Given the description of an element on the screen output the (x, y) to click on. 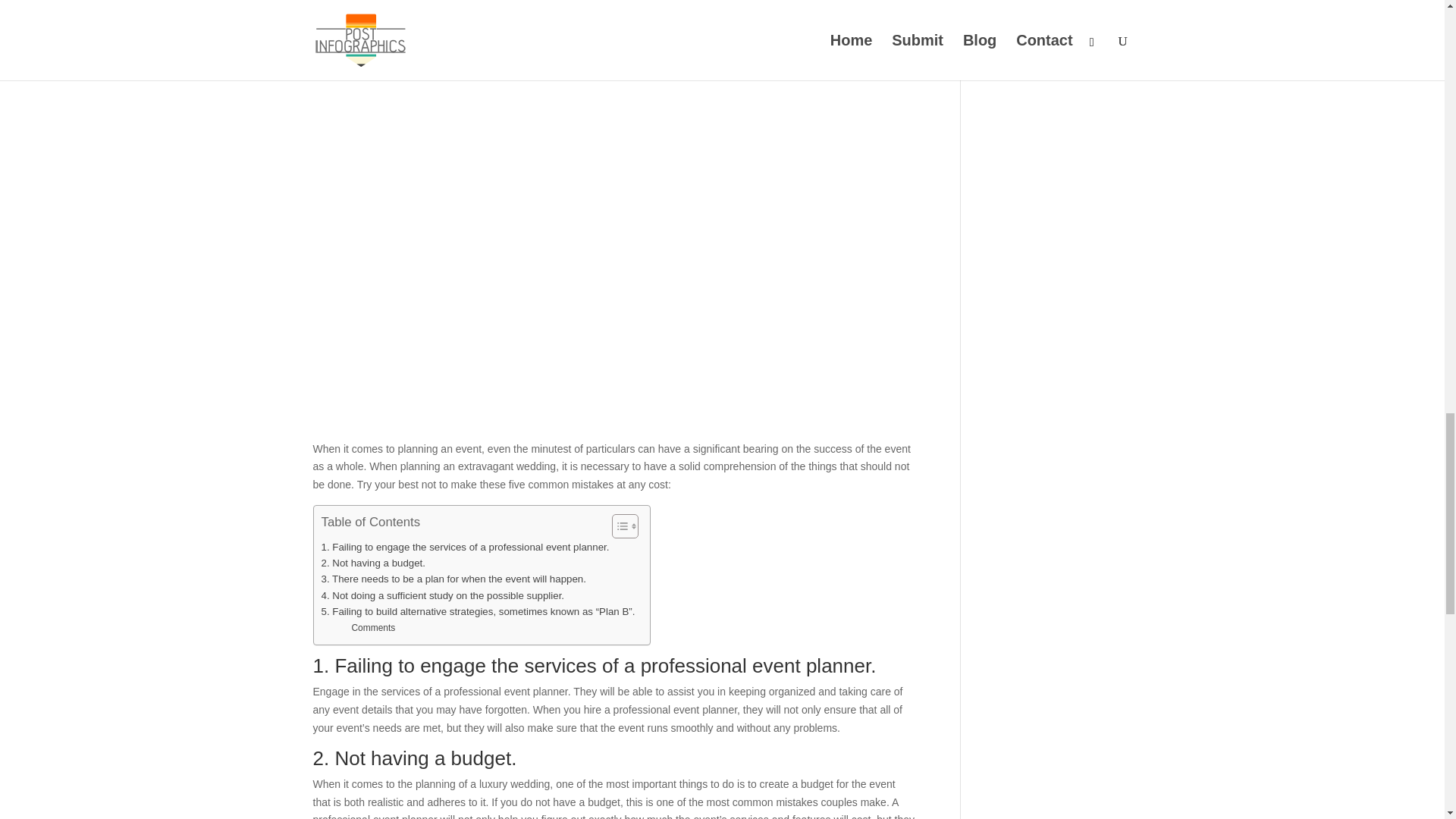
3. There needs to be a plan for when the event will happen. (453, 578)
2. Not having a budget. (373, 562)
2. Not having a budget. (373, 562)
4. Not doing a sufficient study on the possible supplier. (442, 595)
4. Not doing a sufficient study on the possible supplier. (442, 595)
3. There needs to be a plan for when the event will happen. (453, 578)
Comments (372, 627)
Comments (372, 627)
